Given the description of an element on the screen output the (x, y) to click on. 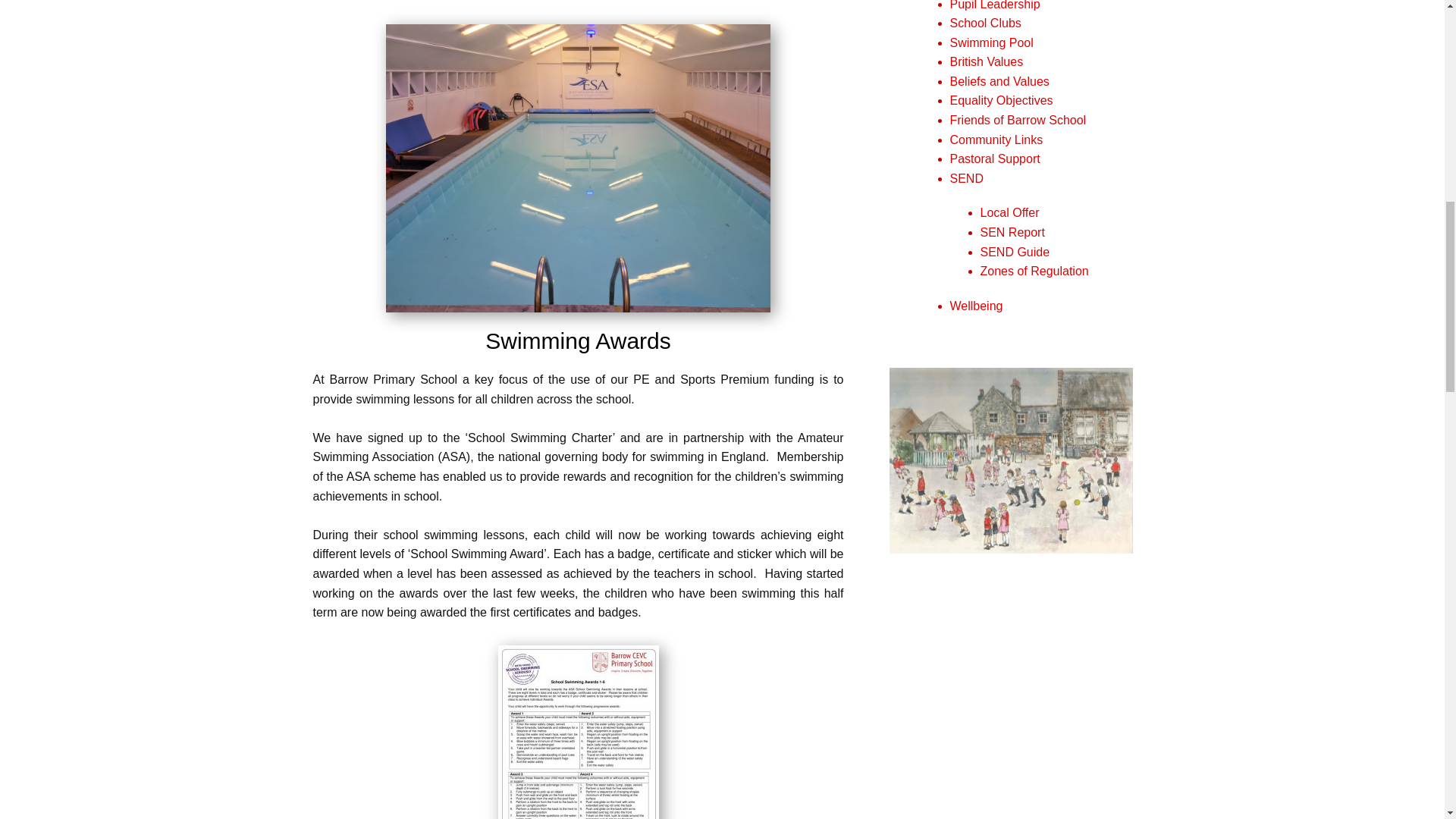
School Clubs (984, 22)
swimming-awards-barrow-1 (577, 732)
Pupil Leadership (994, 4)
Swimming Pool (990, 42)
